Given the description of an element on the screen output the (x, y) to click on. 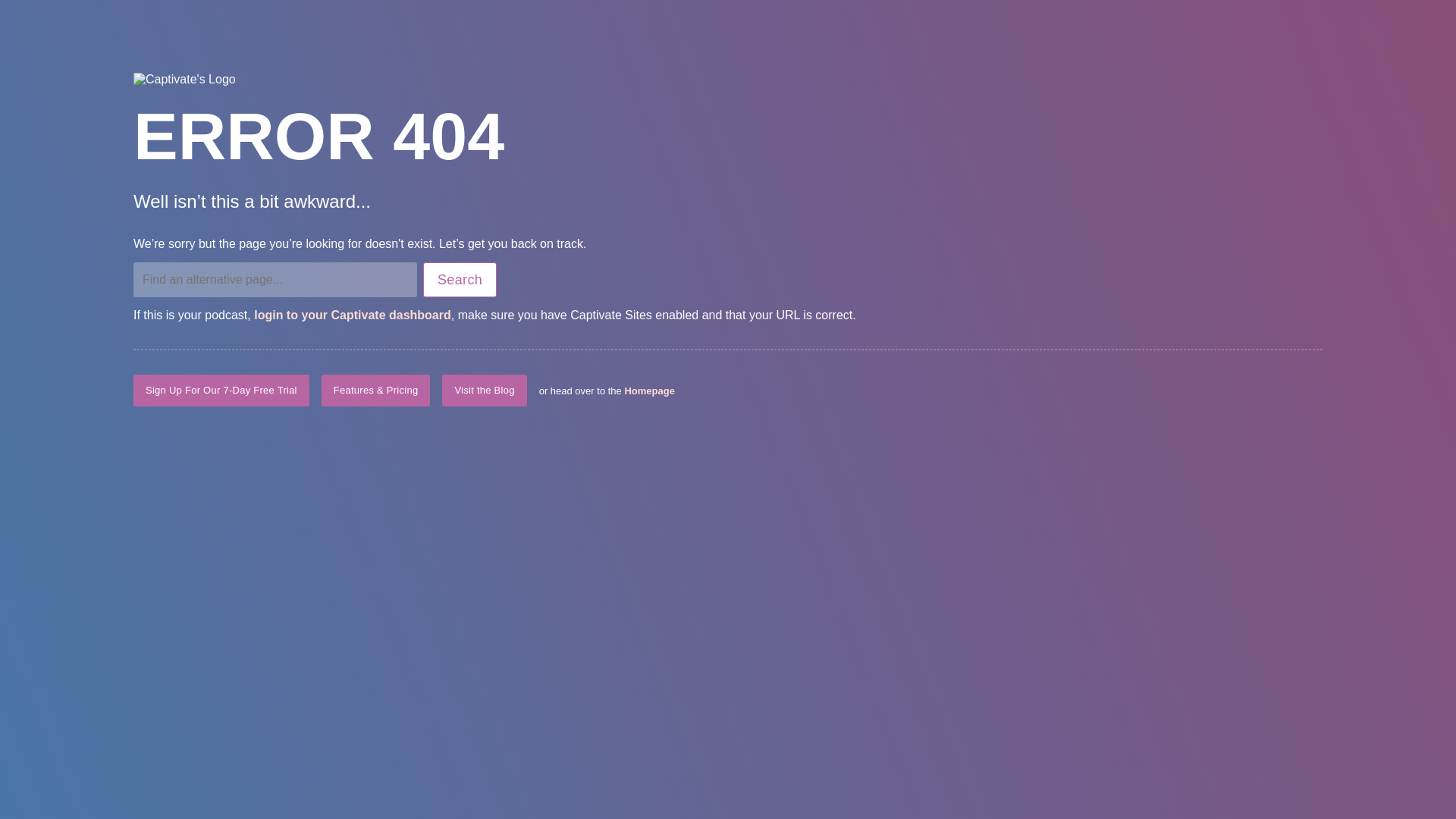
Visit the Blog (483, 390)
Search (459, 279)
Homepage (649, 390)
login to your Captivate dashboard (352, 314)
Sign Up For Our 7-Day Free Trial (220, 390)
